Given the description of an element on the screen output the (x, y) to click on. 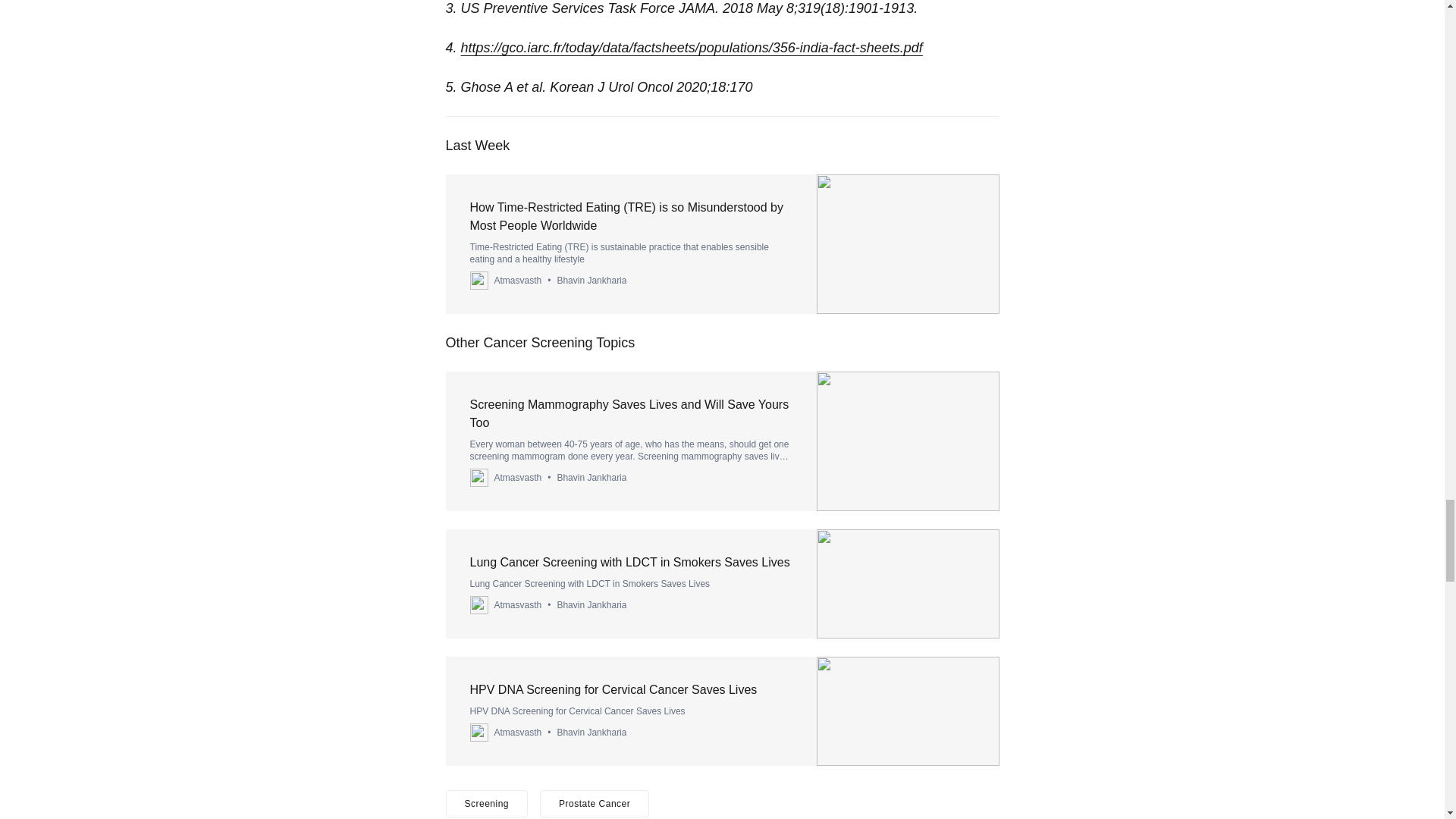
Prostate Cancer (594, 803)
Screening (486, 803)
